Given the description of an element on the screen output the (x, y) to click on. 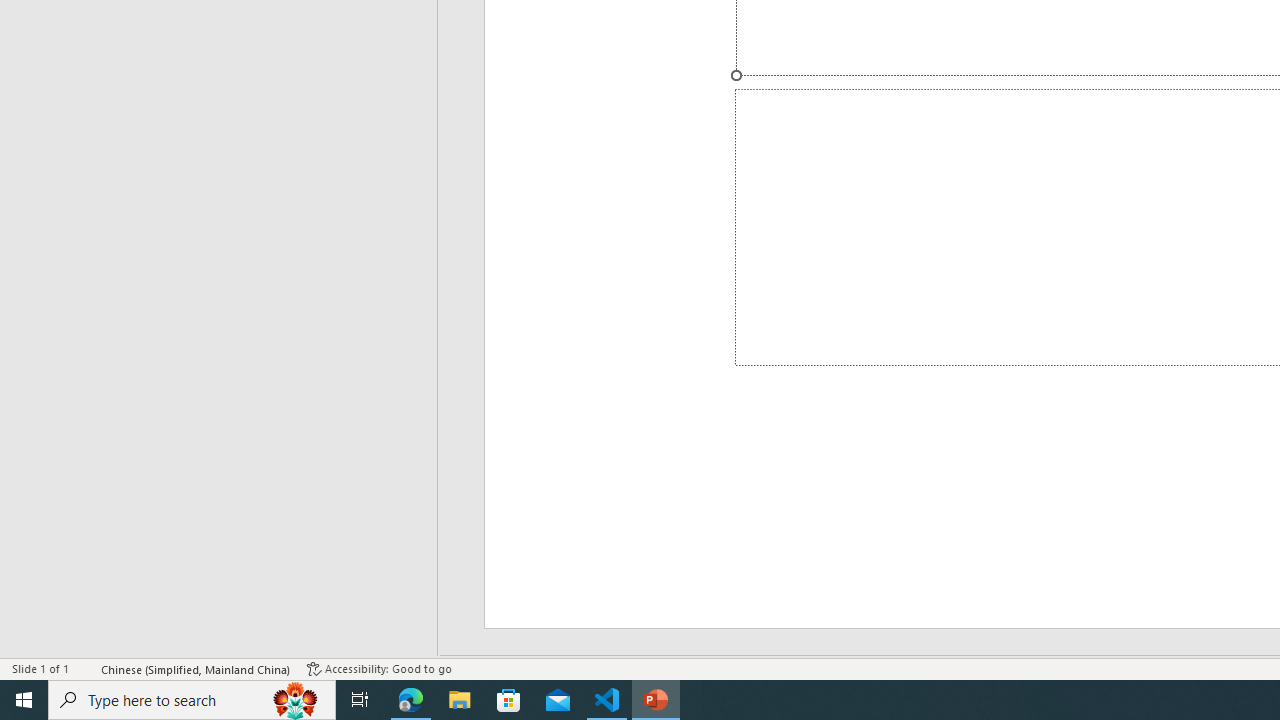
Spell Check  (86, 668)
Accessibility Checker Accessibility: Good to go (379, 668)
